Given the description of an element on the screen output the (x, y) to click on. 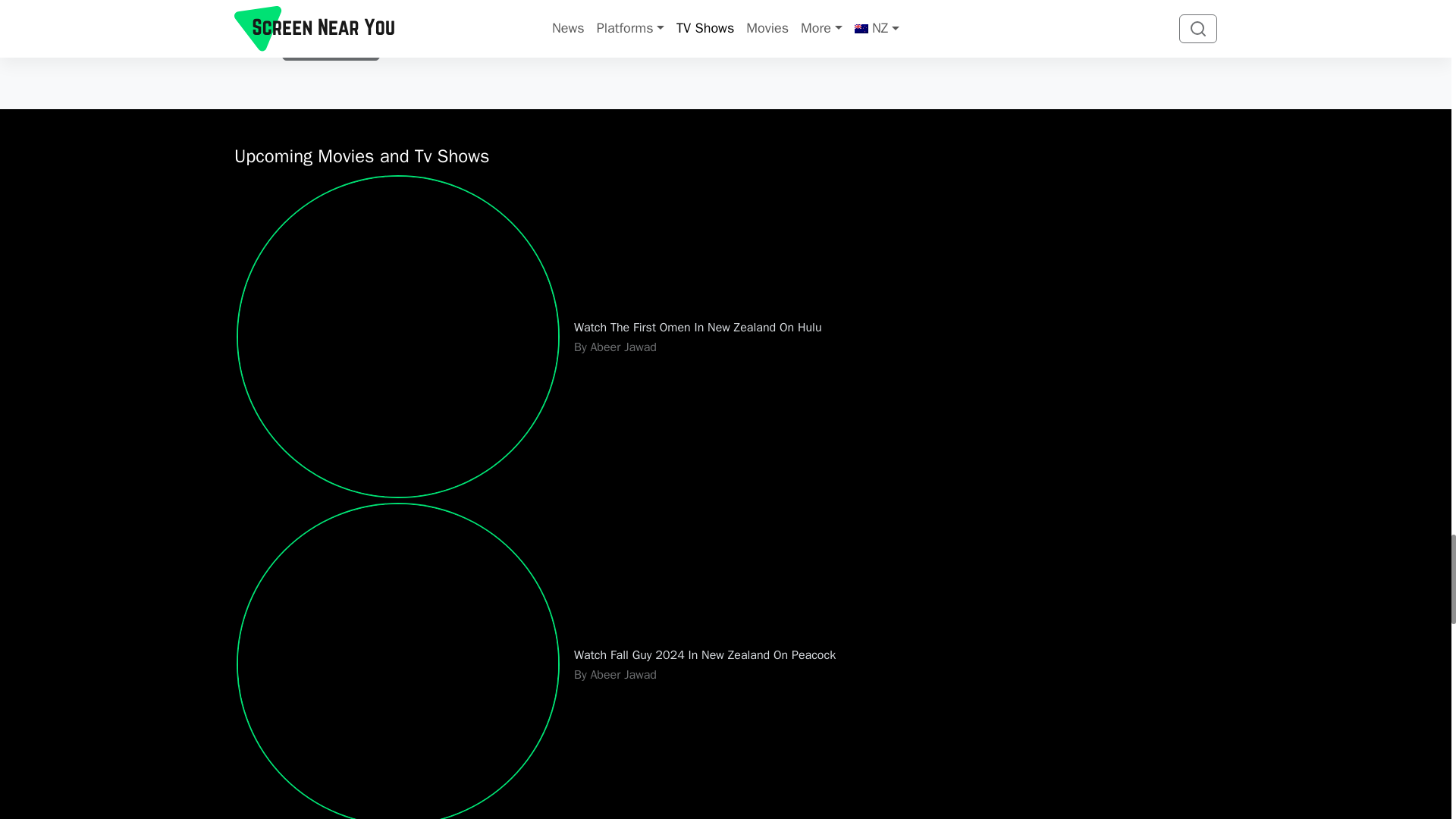
Post Comment (331, 45)
